Given the description of an element on the screen output the (x, y) to click on. 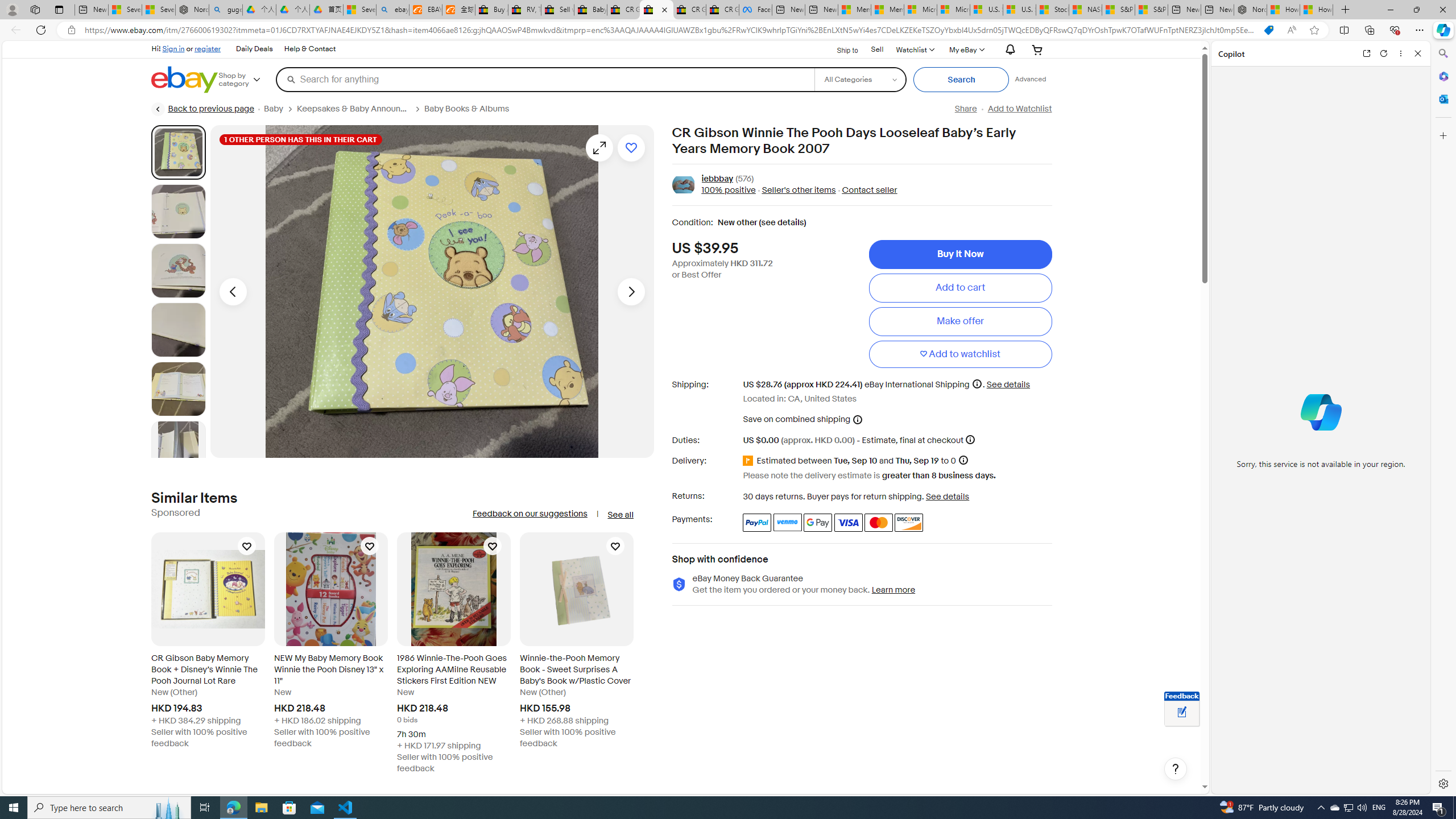
Add to cart (959, 287)
Buy It Now (959, 253)
Make offer (959, 320)
More information on Combined Shipping. Opens a layer. (857, 419)
Microsoft 365 (1442, 76)
Expand Cart (1037, 49)
Add to watchlist (959, 353)
Facebook (755, 9)
More information (969, 439)
Picture 1 of 22 (178, 152)
Add to watchlist (959, 353)
Watchlist (914, 49)
